Given the description of an element on the screen output the (x, y) to click on. 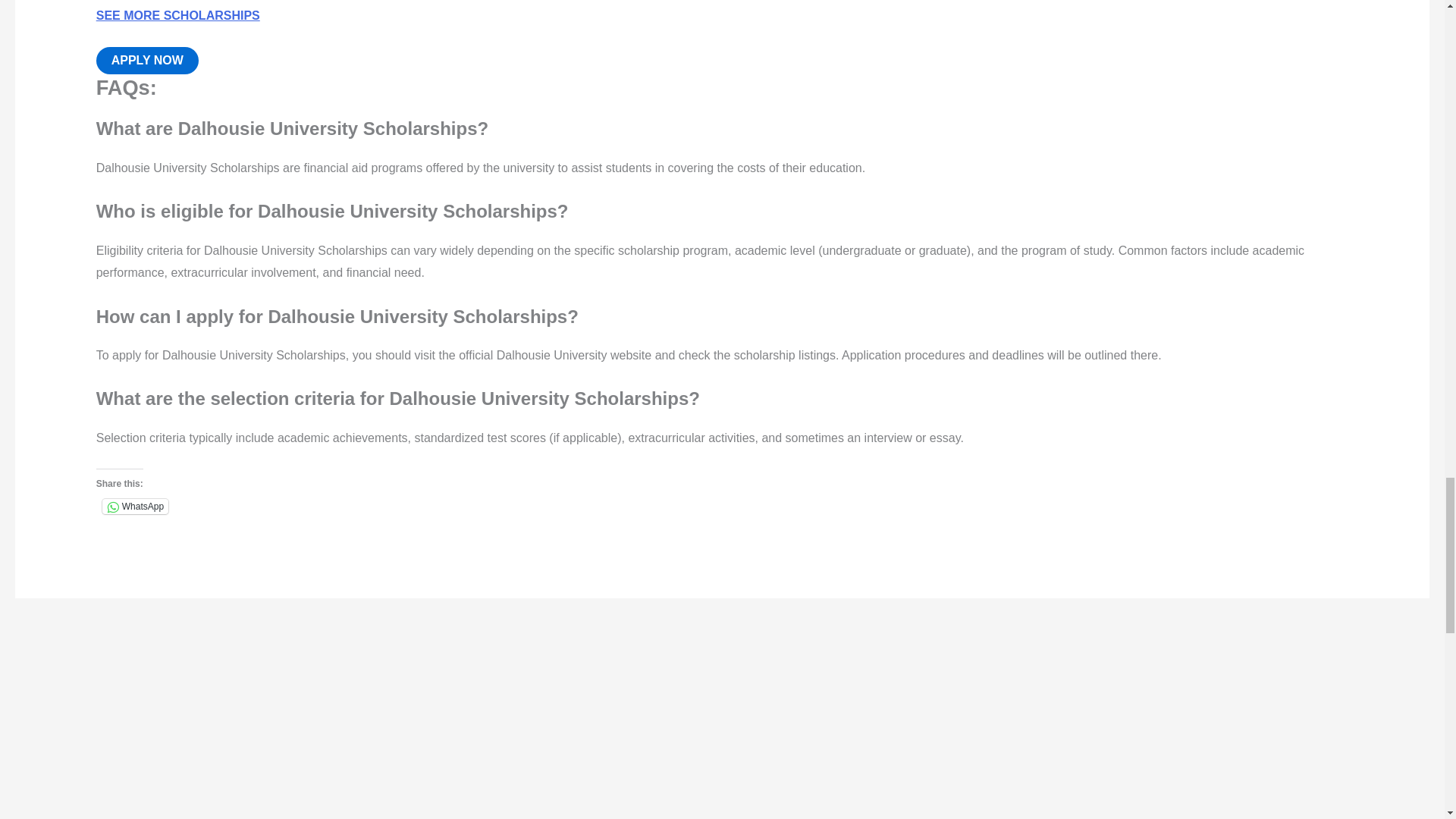
WhatsApp (134, 506)
SEE MORE SCHOLARSHIPS (178, 15)
Click to share on WhatsApp (134, 506)
APPLY NOW (147, 60)
